Given the description of an element on the screen output the (x, y) to click on. 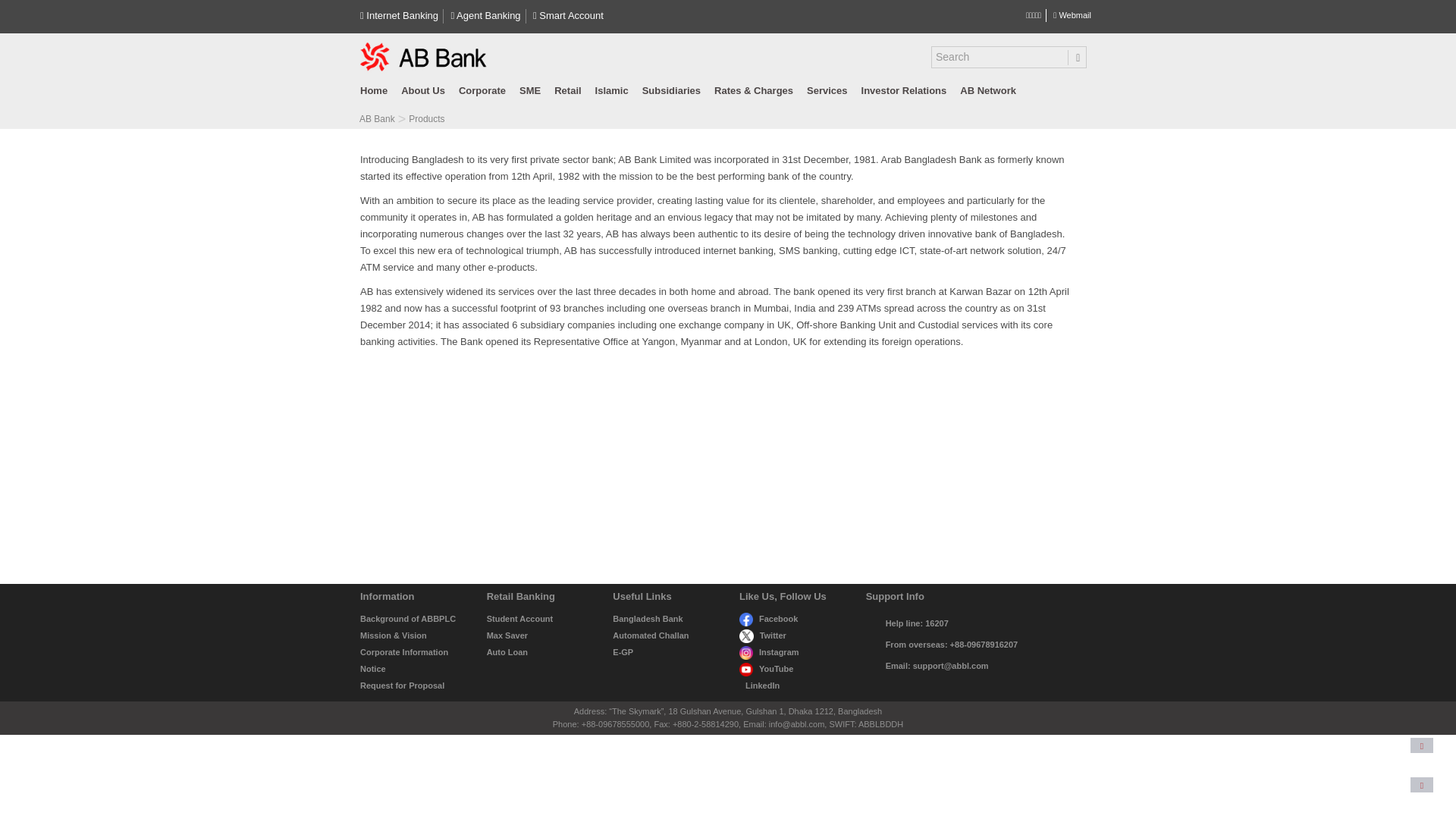
AB Bank (376, 118)
Corporate (481, 91)
Subsidiaries (670, 91)
SME (529, 91)
Home (376, 91)
Webmail (1071, 14)
Agent Banking (484, 15)
Internet Banking (398, 15)
About Us (422, 91)
Smart Account (568, 15)
